Given the description of an element on the screen output the (x, y) to click on. 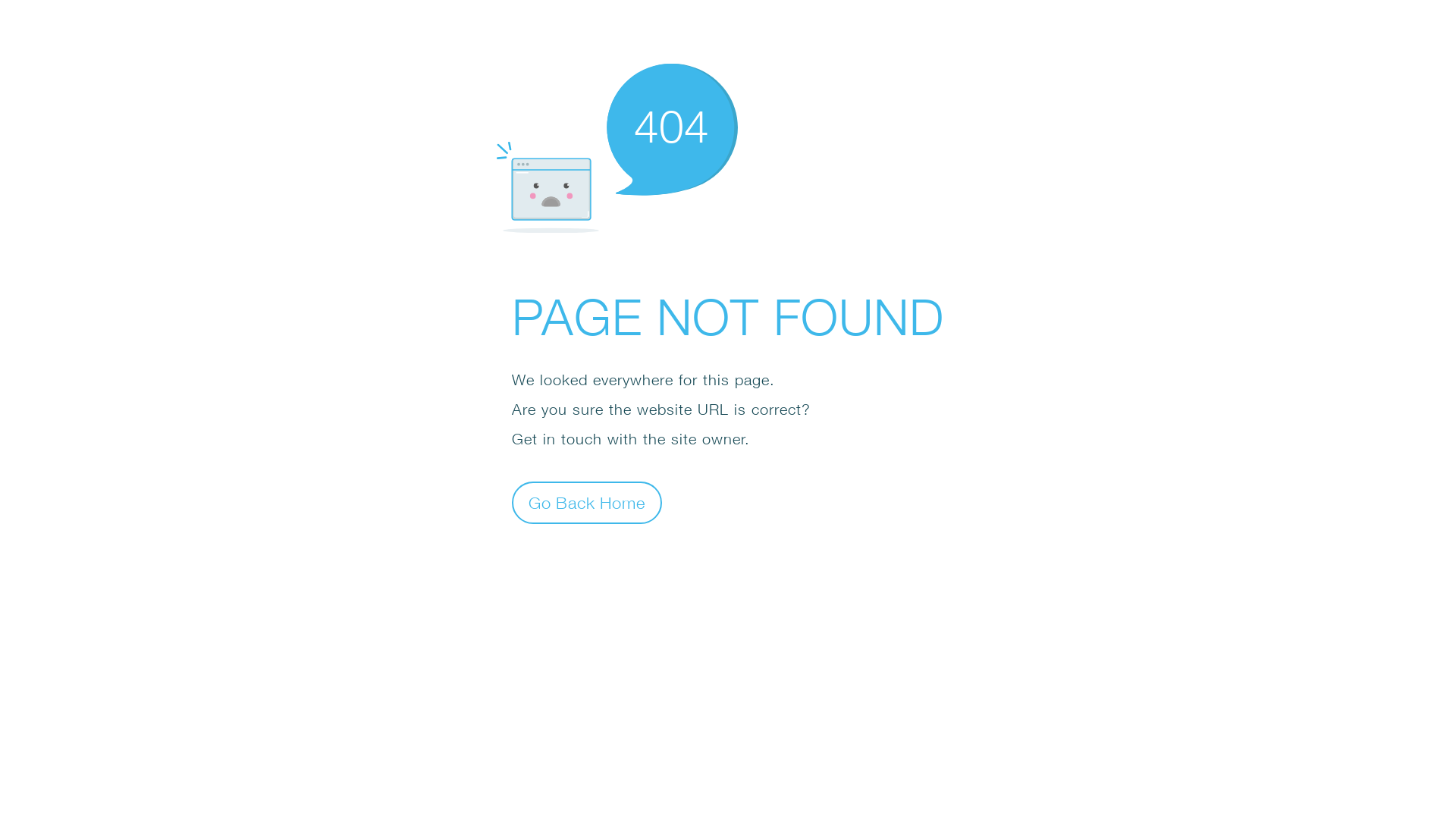
Go Back Home Element type: text (586, 502)
